Given the description of an element on the screen output the (x, y) to click on. 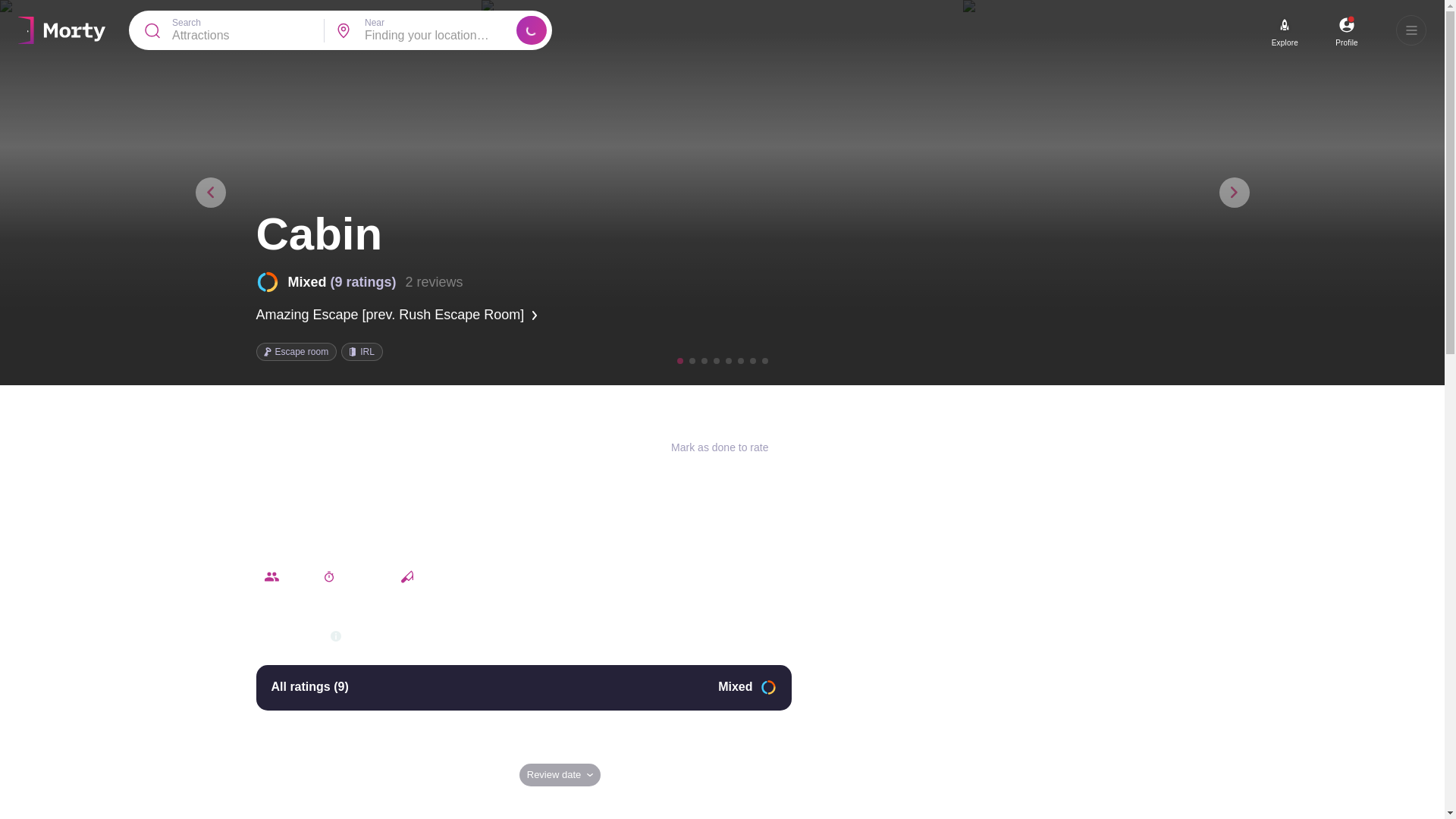
Review date (560, 774)
Explore (1284, 42)
Loading... (531, 30)
2 reviews (434, 282)
